Given the description of an element on the screen output the (x, y) to click on. 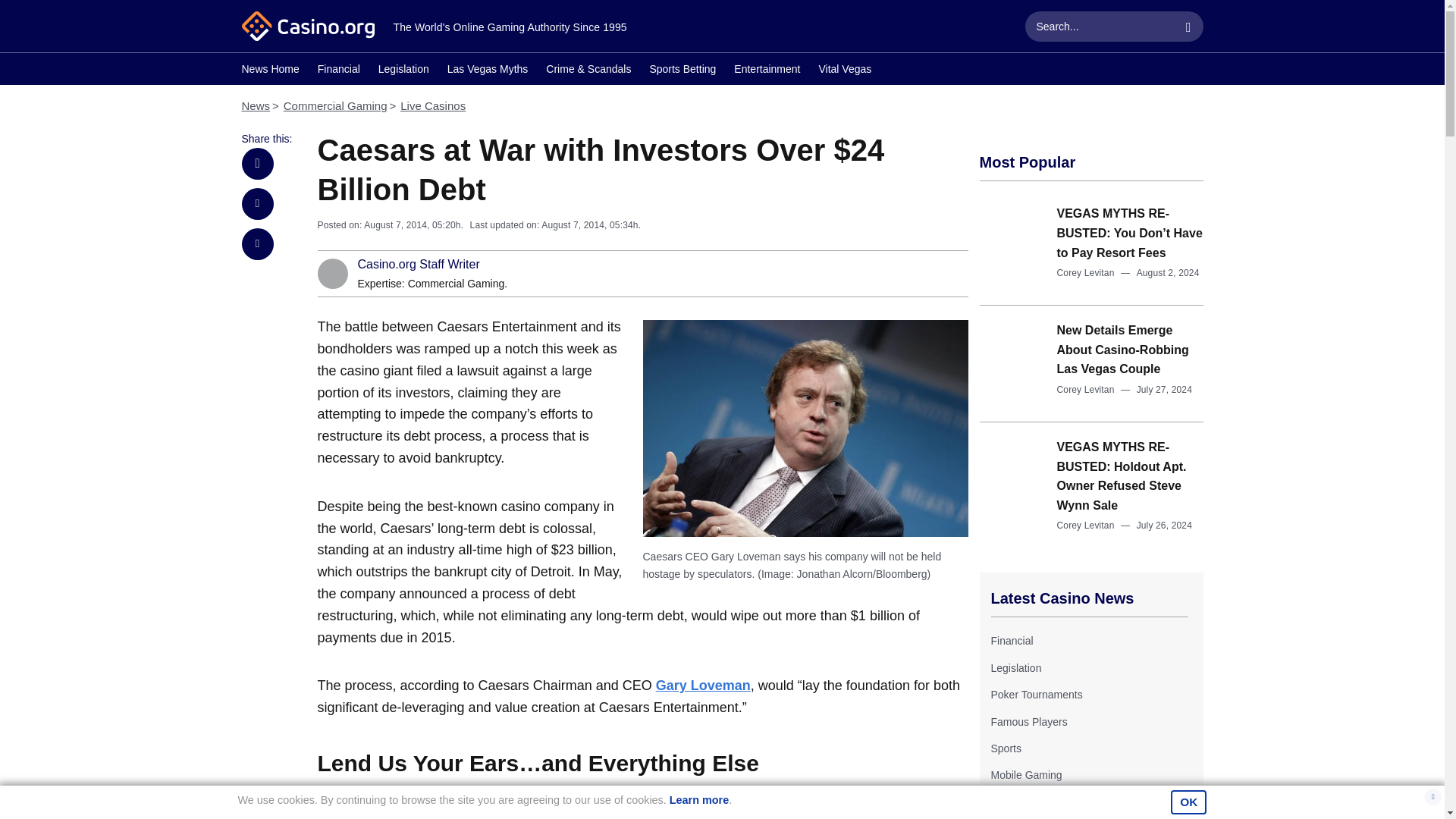
News Home (269, 70)
Sports (1005, 748)
Casino.org Staff Writer (419, 264)
Las Vegas Myths (487, 70)
Rumors (1008, 802)
Sports Betting (682, 70)
Entertainment (766, 70)
Financial (1011, 640)
Poker Tournaments (1035, 694)
Famous Players (1028, 721)
Commercial Gaming (456, 283)
Corey Levitan (1086, 272)
Corey Levitan (1086, 525)
Legislation (1015, 667)
